Given the description of an element on the screen output the (x, y) to click on. 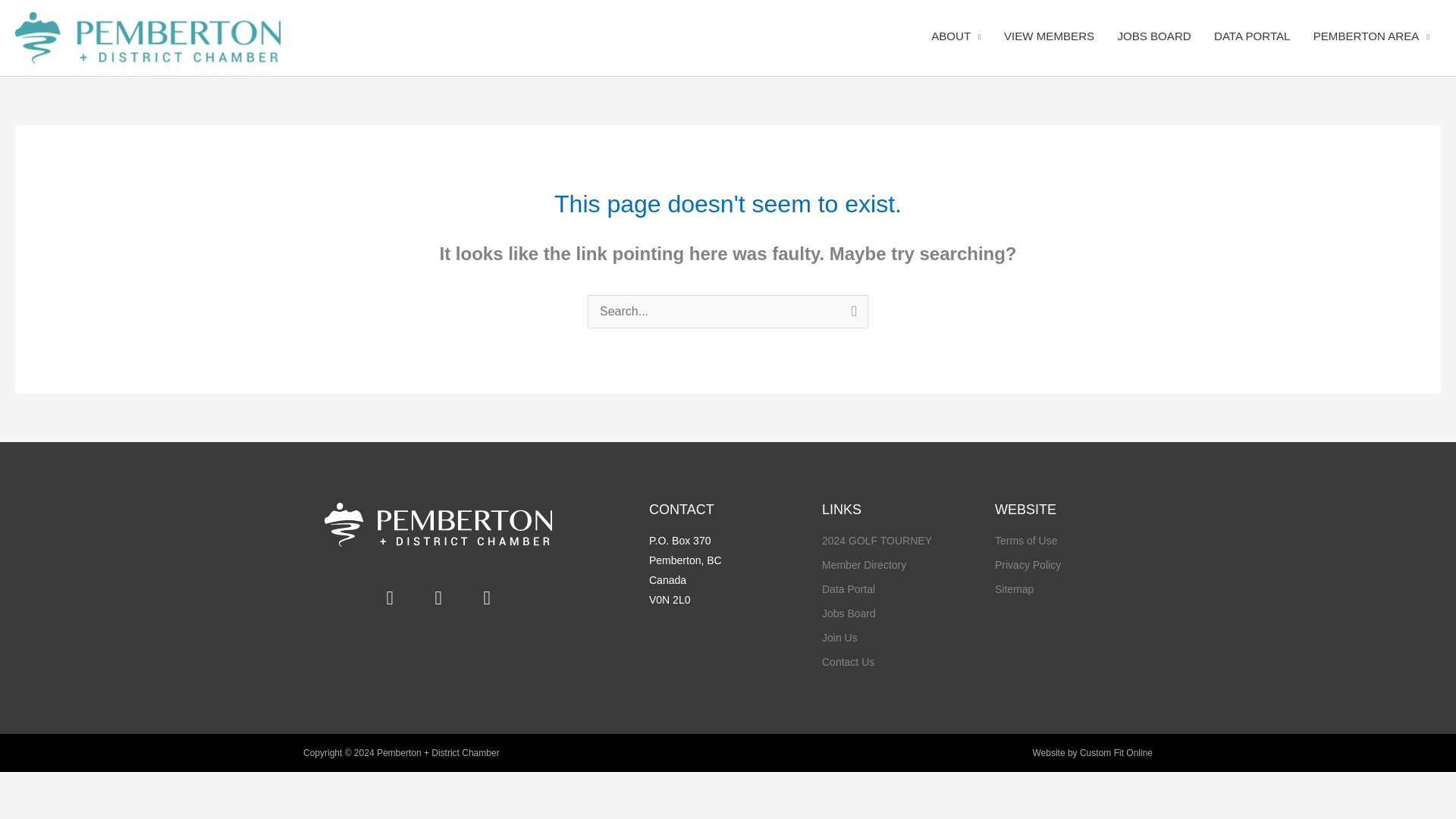
PEMBERTON AREA (1371, 35)
JOBS BOARD (1153, 35)
ABOUT (956, 35)
VIEW MEMBERS (1048, 35)
DATA PORTAL (1251, 35)
